Given the description of an element on the screen output the (x, y) to click on. 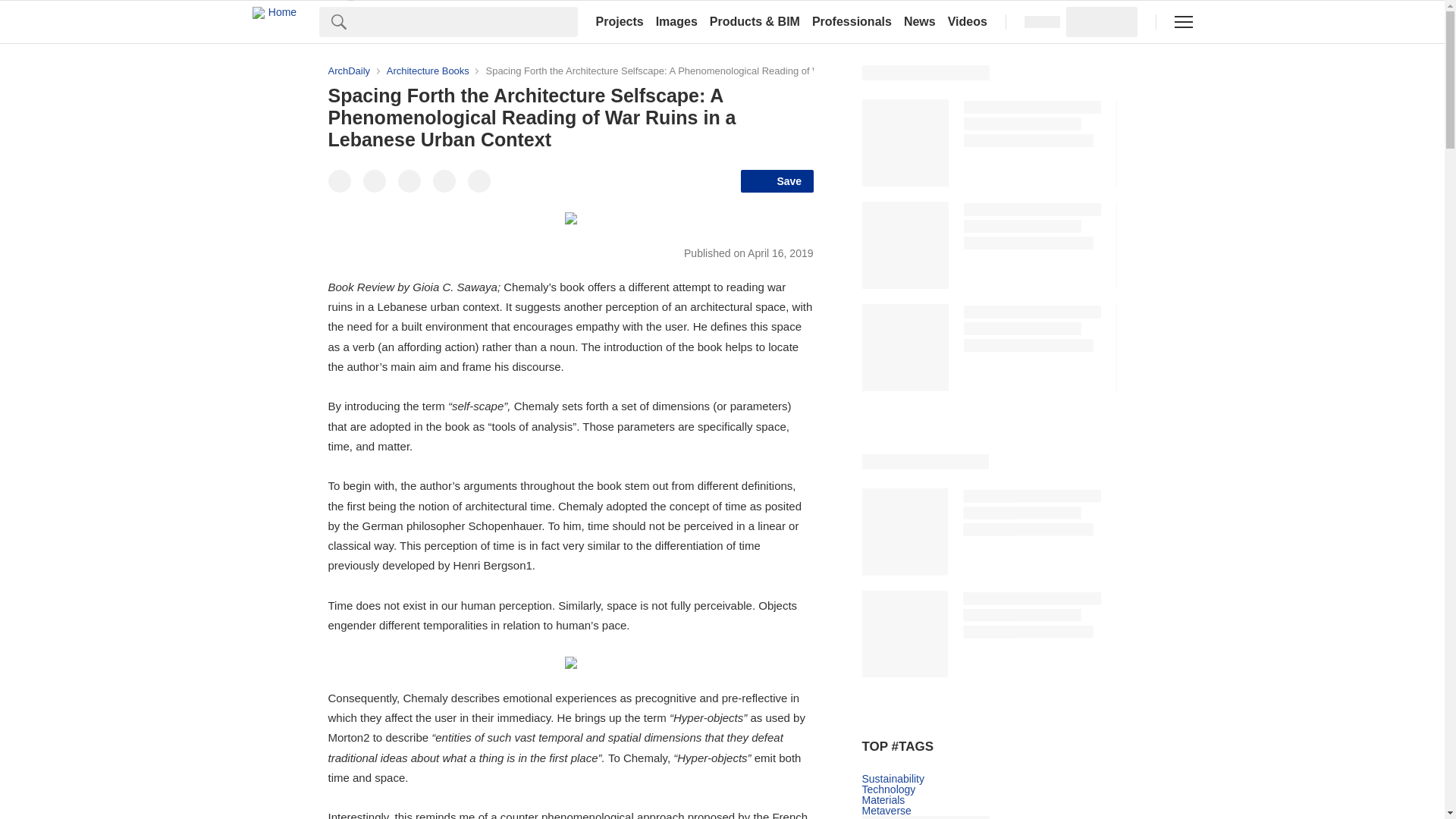
Professionals (852, 21)
Projects (619, 21)
News (920, 21)
Images (676, 21)
Videos (967, 21)
